Given the description of an element on the screen output the (x, y) to click on. 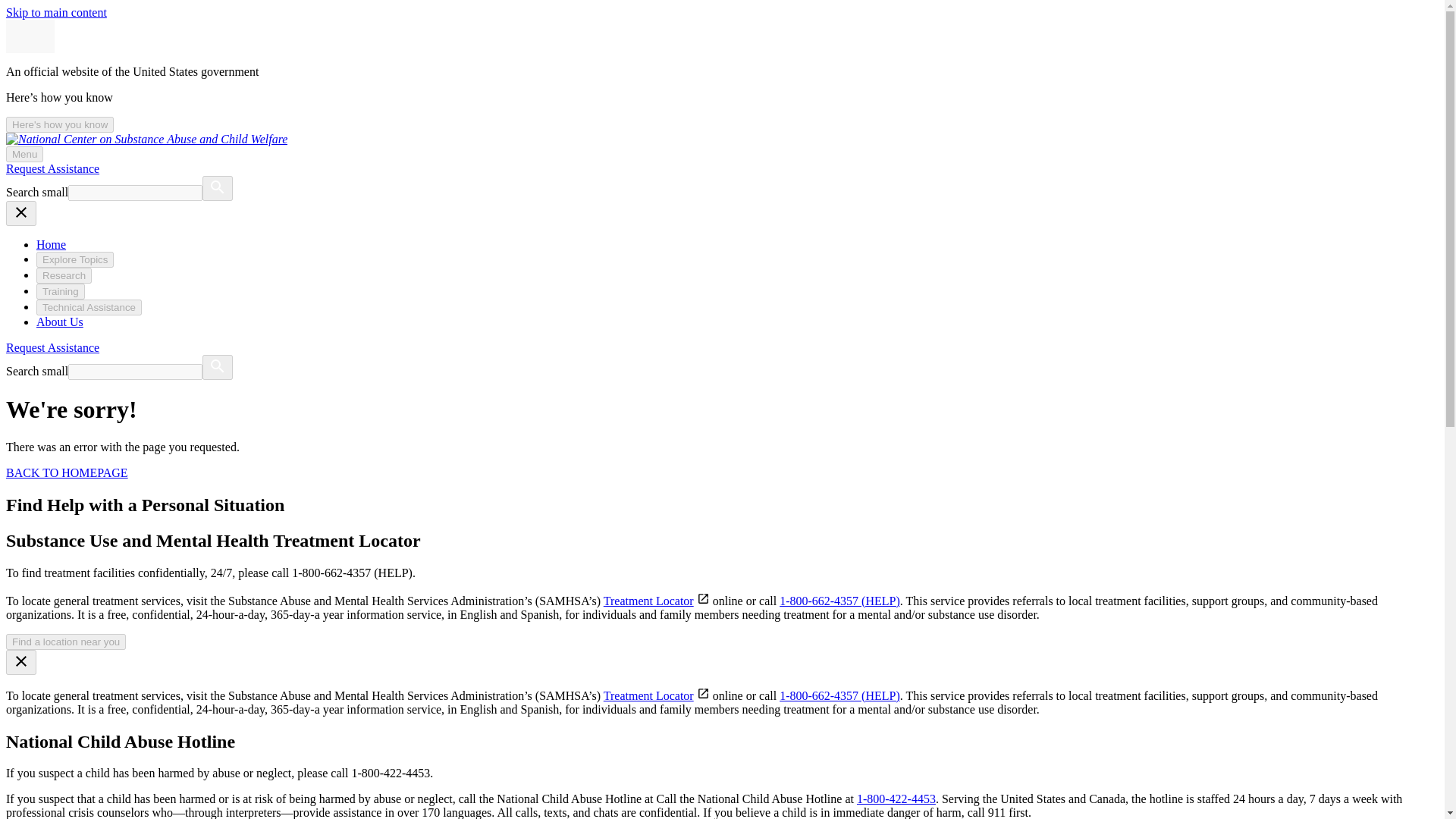
Request Assistance (52, 347)
BACK TO HOMEPAGE (66, 472)
Here's how you know (59, 124)
National Center on Substance Abuse and Child Welfare (145, 138)
Research (63, 275)
Home (50, 244)
Find a location near you (65, 641)
About Us (59, 321)
Explore Topics (74, 259)
Training (60, 291)
Treatment Locator (649, 695)
Request Assistance (52, 168)
Menu (24, 154)
Skip to main content (55, 11)
Treatment Locator (649, 600)
